Given the description of an element on the screen output the (x, y) to click on. 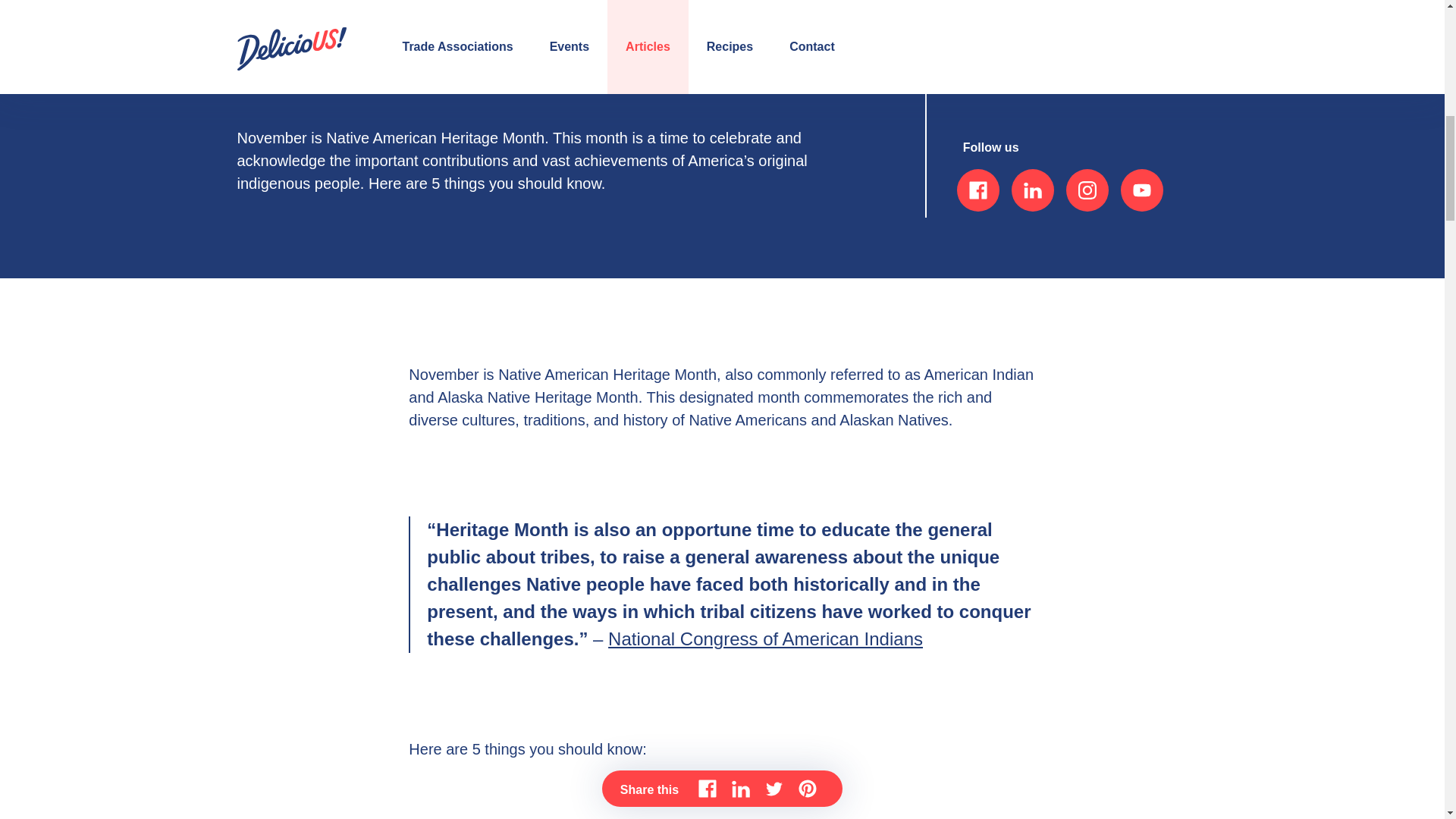
National Congress of American Indians (765, 638)
Instagram (1086, 189)
LinkedIn (1032, 189)
YouTube (1142, 189)
contact us (1009, 67)
Facebook (977, 189)
